Given the description of an element on the screen output the (x, y) to click on. 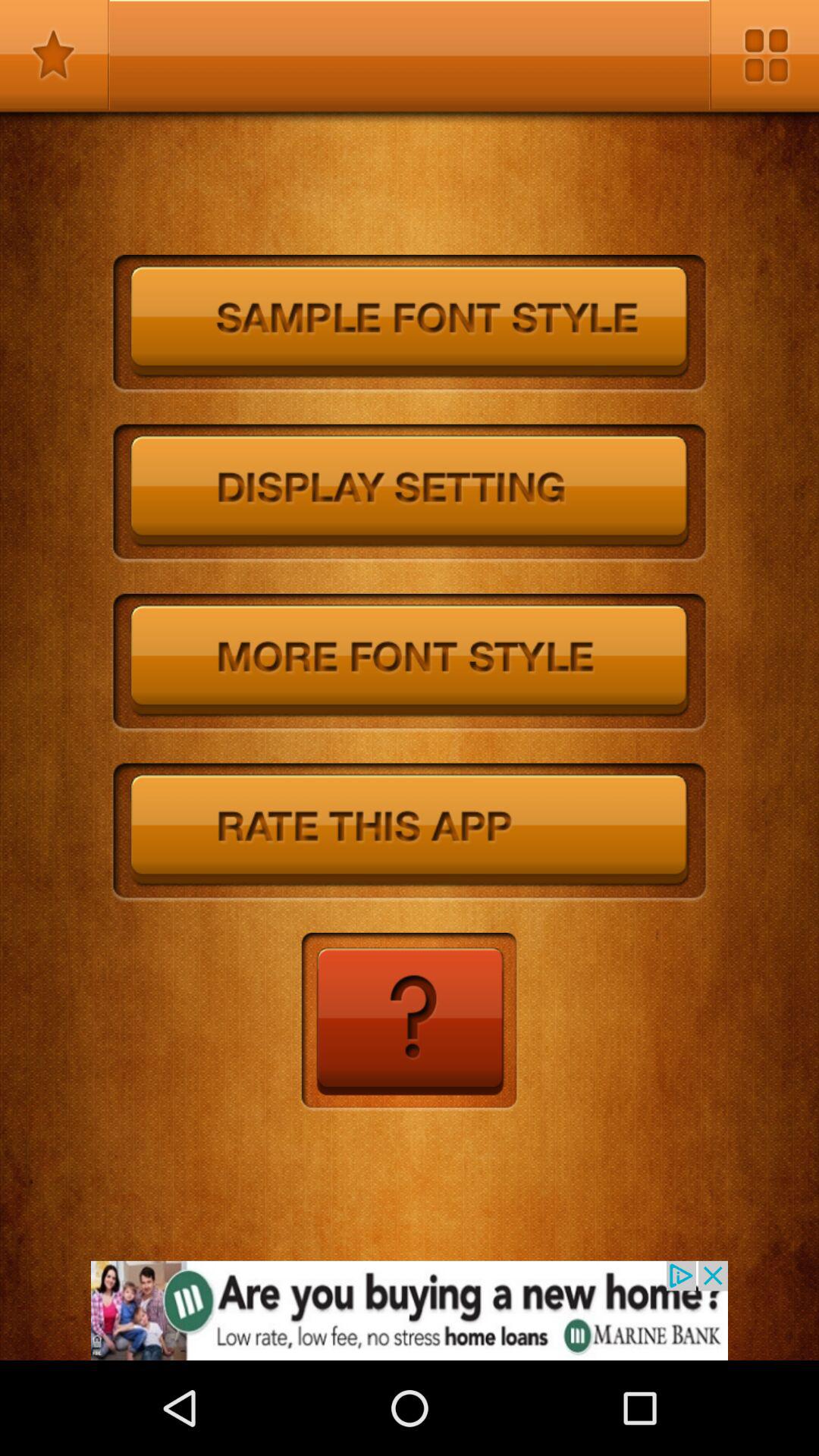
more font style (409, 663)
